Given the description of an element on the screen output the (x, y) to click on. 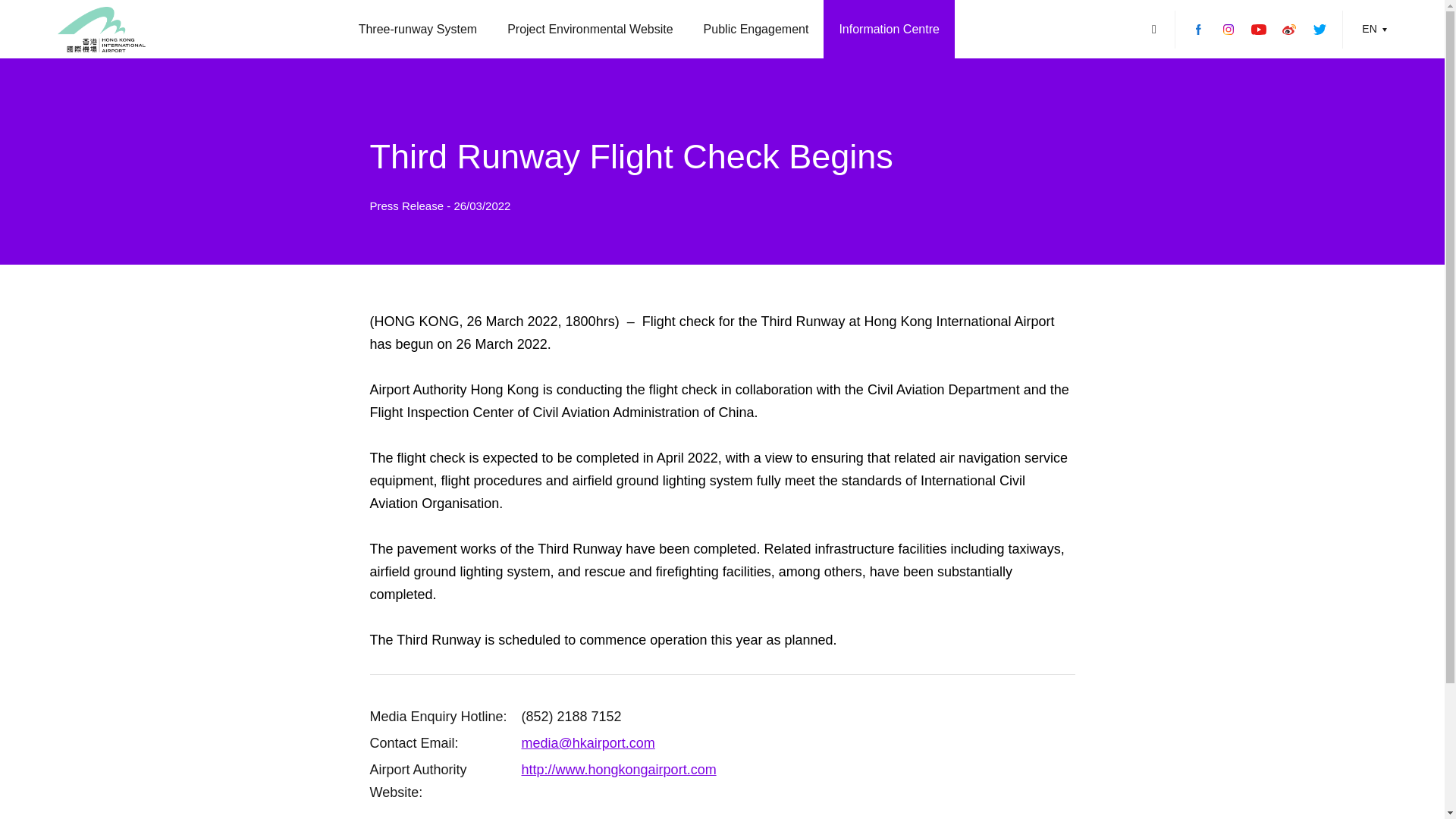
Three-runway System (418, 29)
Public Engagement (756, 29)
Press Release (407, 205)
Information Centre (889, 29)
Project Environmental Website (589, 29)
